Given the description of an element on the screen output the (x, y) to click on. 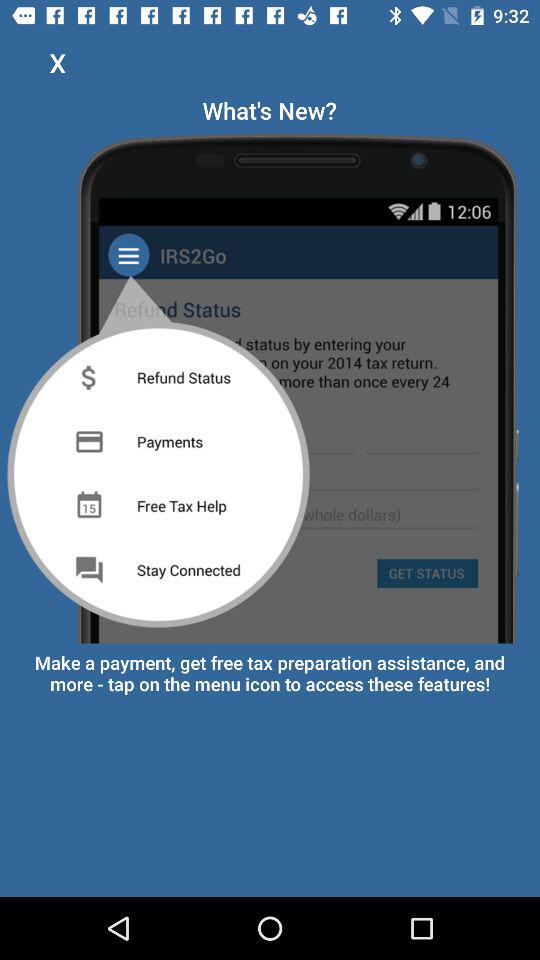
launch the app below what's new? icon (270, 384)
